Given the description of an element on the screen output the (x, y) to click on. 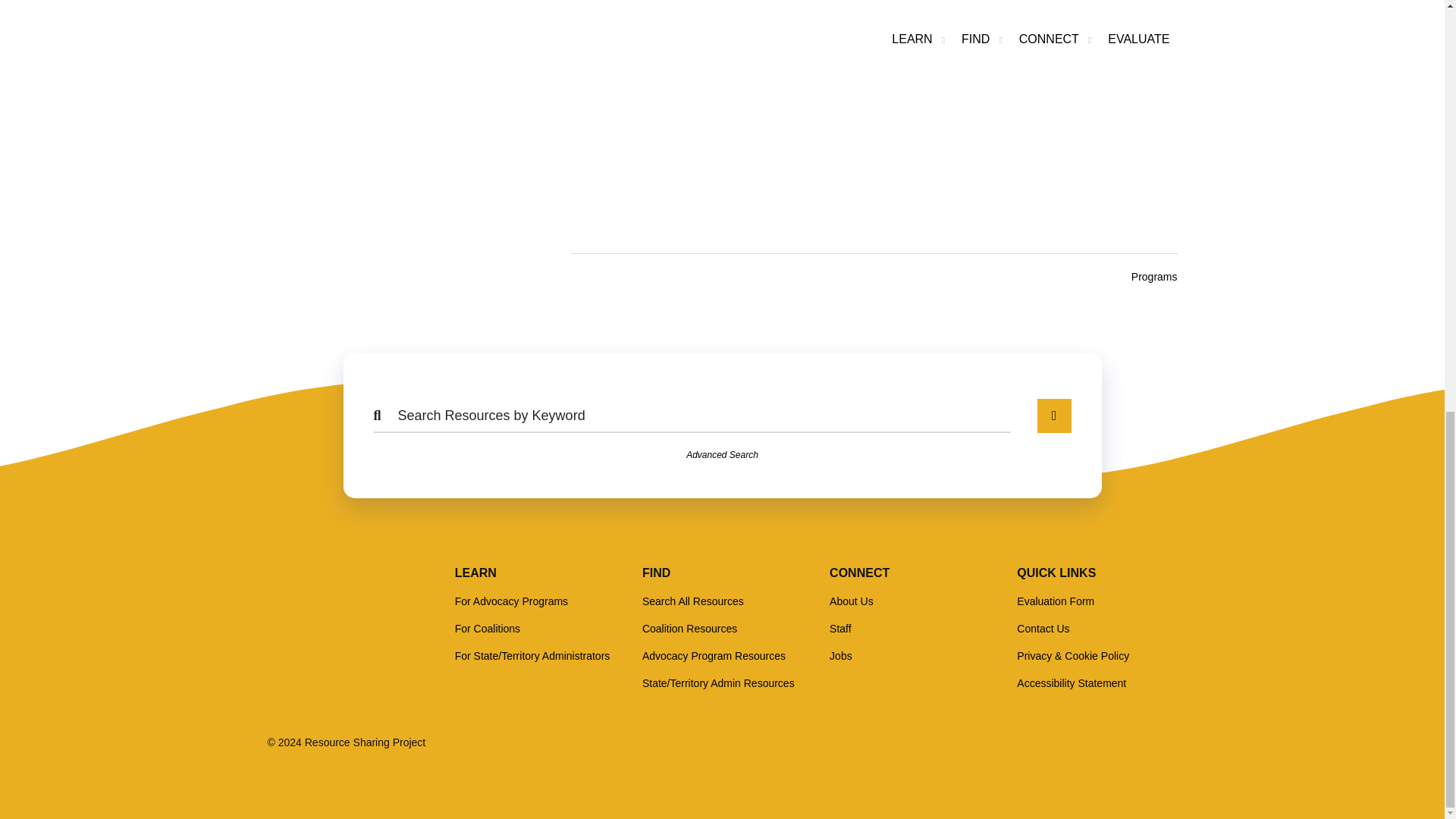
Rural SADI Lessons: Part 2 (873, 101)
Advocacy Program Resources (714, 655)
Advanced Search (721, 454)
For Coalitions (486, 628)
For Advocacy Programs (510, 601)
Search (1053, 415)
Search All Resources (693, 601)
Jobs (840, 655)
Evaluation Form (1055, 601)
Programs (1154, 276)
